Given the description of an element on the screen output the (x, y) to click on. 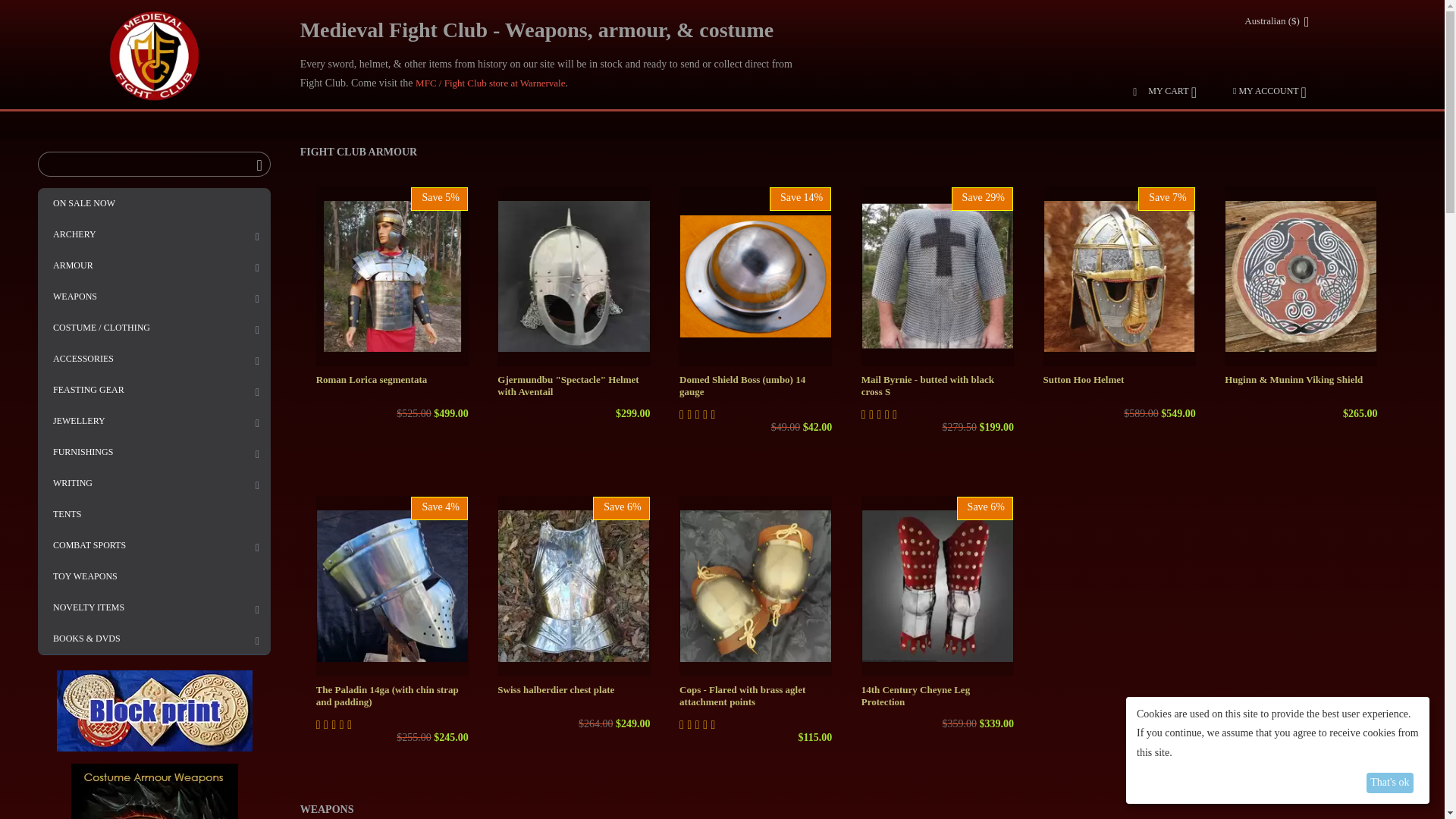
ARCHERY (153, 234)
Front side of Roman lorica armour (392, 276)
MY ACCOUNT (1269, 90)
Search products (153, 163)
Home of Medieval Fight Club (154, 55)
ON SALE NOW (153, 203)
ARMOUR (153, 265)
Block print items (153, 710)
Home of Medieval Fight Club (154, 54)
MY CART (1164, 90)
